Given the description of an element on the screen output the (x, y) to click on. 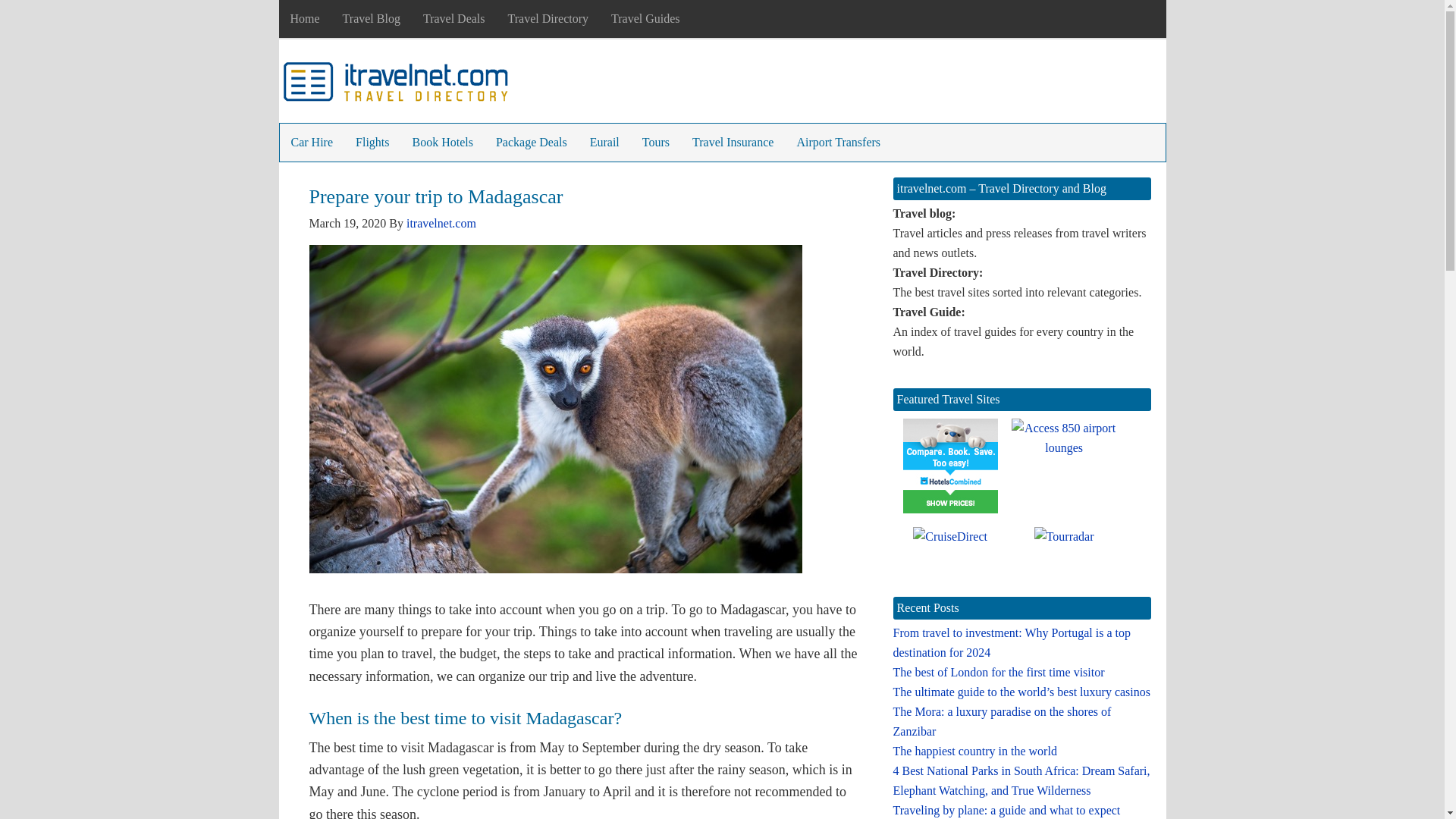
Travel Blog (371, 18)
Airport Transfers (837, 142)
itravelnet.com (441, 223)
Car Hire (311, 142)
Travel Insurance (732, 142)
Traveling by plane: a guide and what to expect (1007, 809)
The best of London for the first time visitor (999, 671)
Package Deals (531, 142)
itravelnet.com (396, 84)
